Given the description of an element on the screen output the (x, y) to click on. 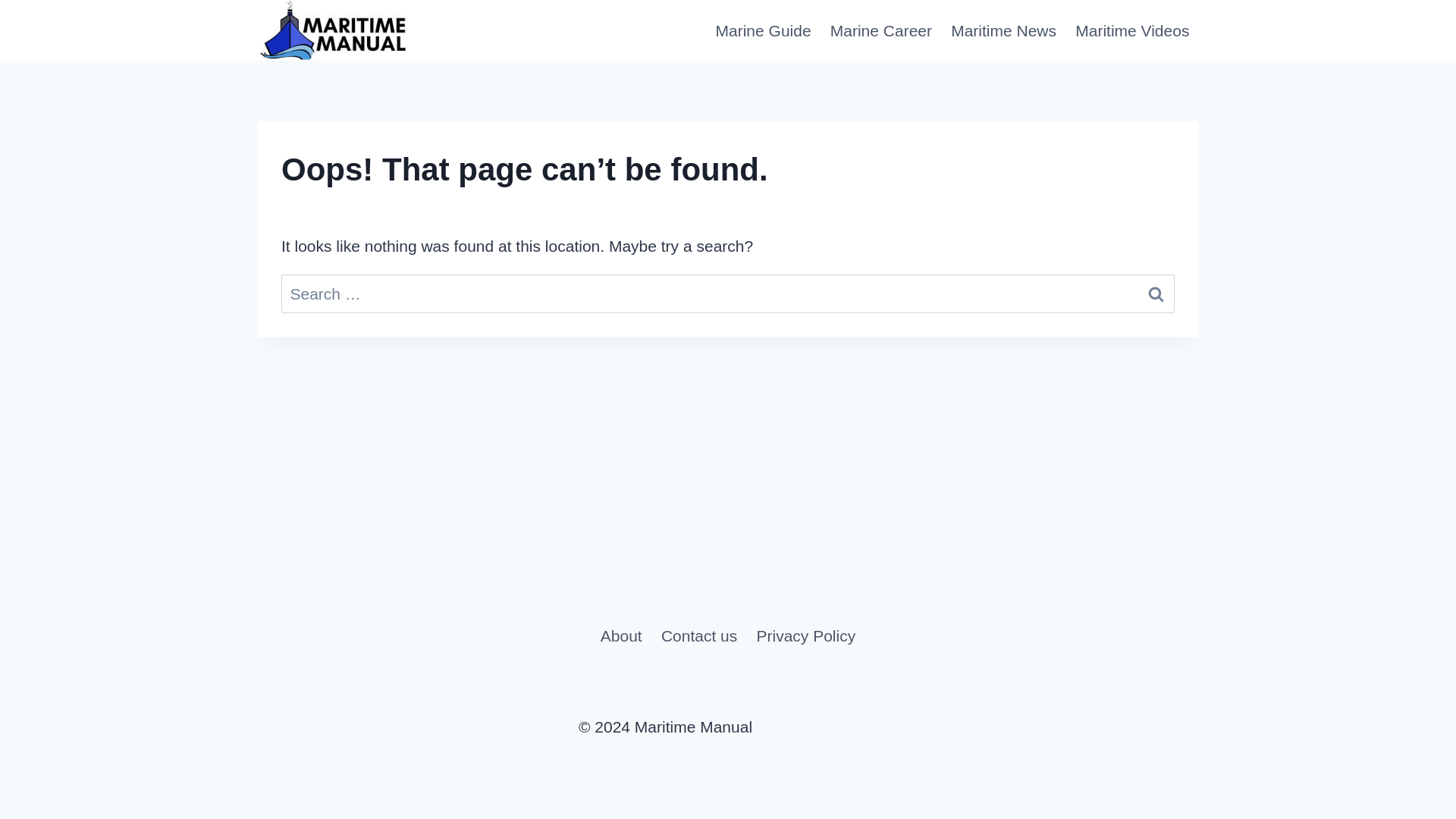
About (620, 635)
Search (1155, 293)
Privacy Policy (805, 635)
Maritime News (1003, 30)
Search (1155, 293)
Contact us (698, 635)
Maritime Videos (1131, 30)
Search (1155, 293)
Marine Guide (763, 30)
Marine Career (880, 30)
